Given the description of an element on the screen output the (x, y) to click on. 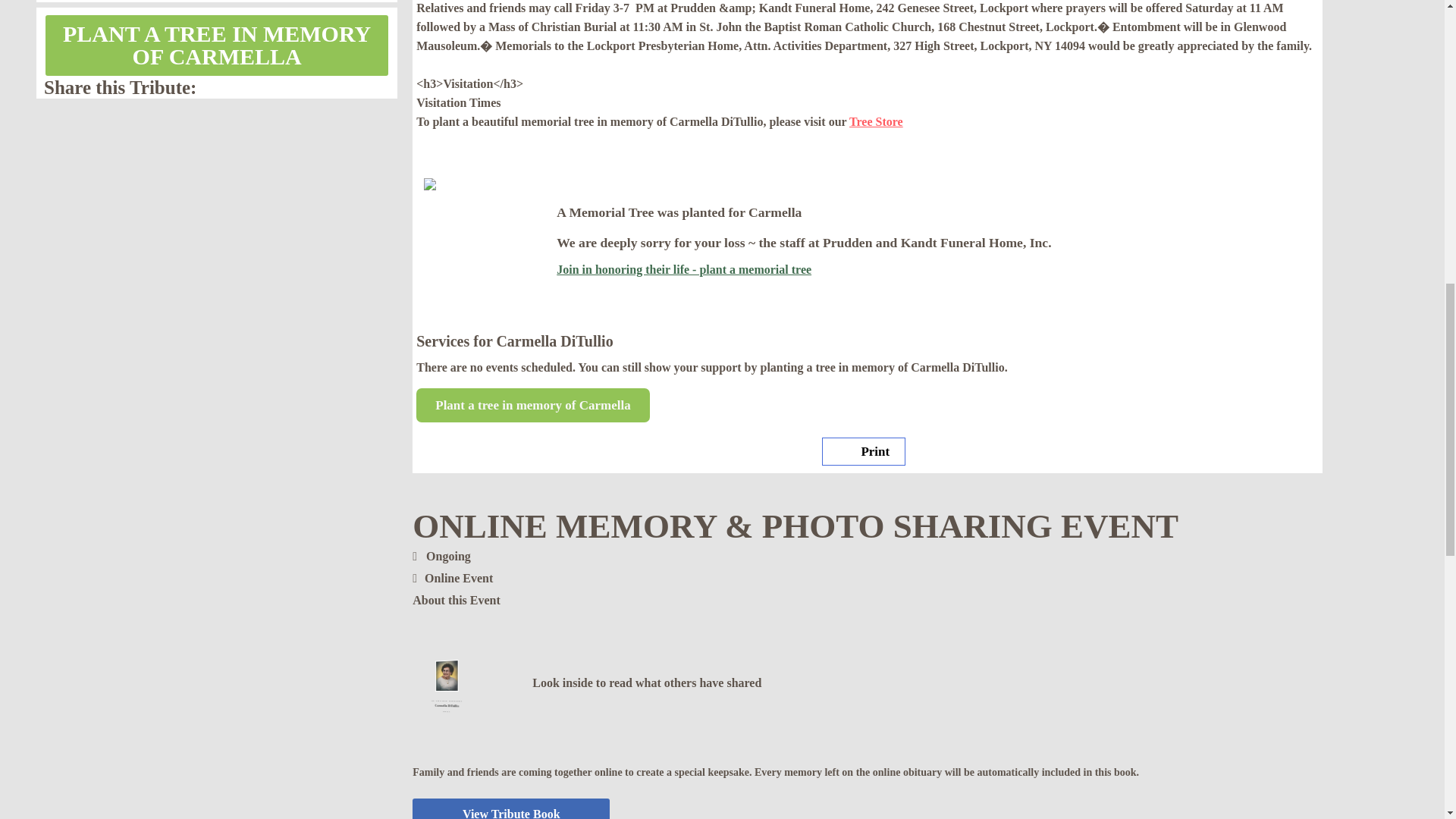
Receive Notifications (348, 87)
Plant A Tree (216, 45)
PLANT A TREE IN MEMORY OF CARMELLA (216, 45)
Facebook (385, 87)
Twitter (367, 87)
Print (863, 451)
